Given the description of an element on the screen output the (x, y) to click on. 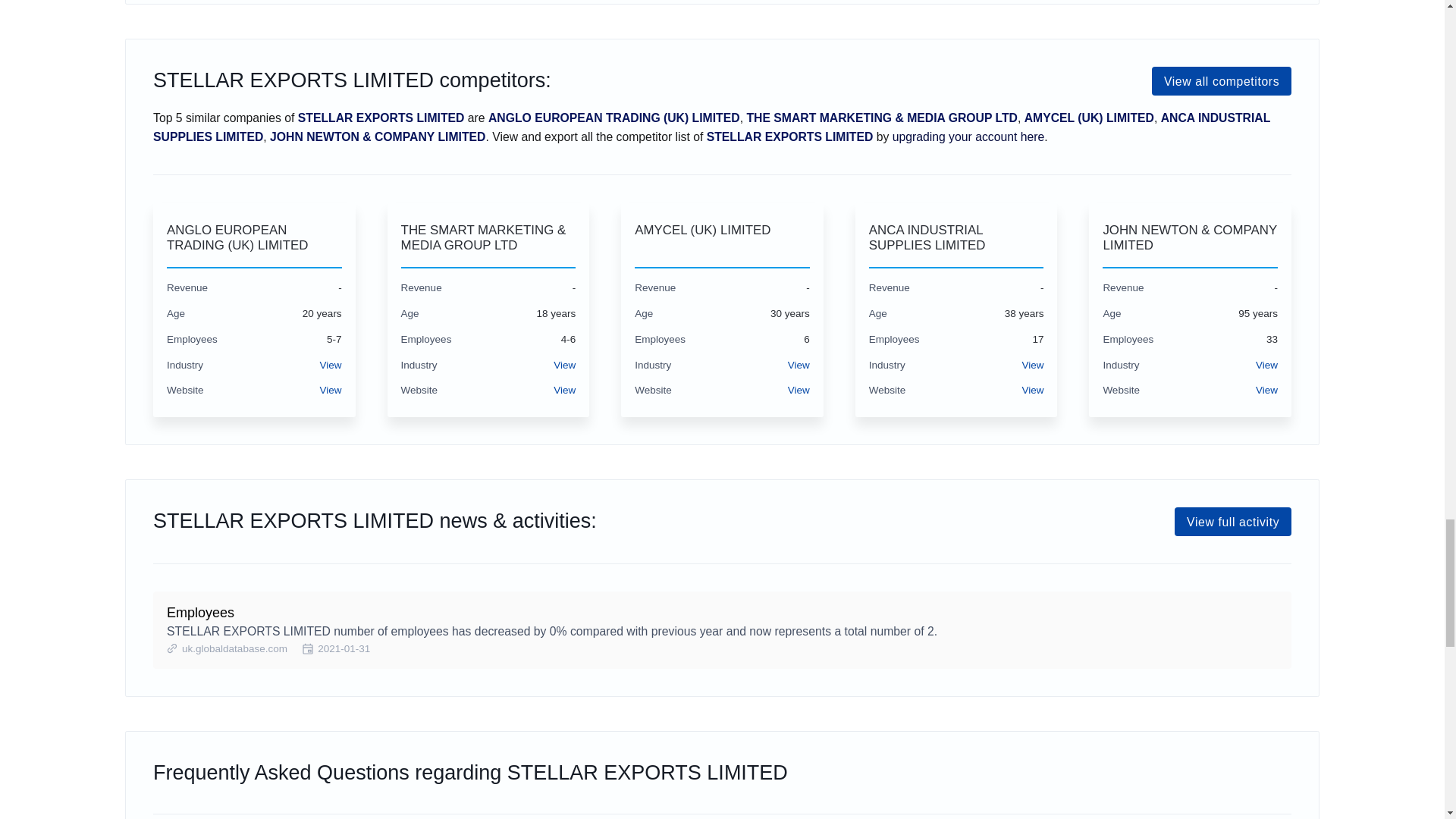
ANCA INDUSTRIAL SUPPLIES LIMITED (956, 237)
